Given the description of an element on the screen output the (x, y) to click on. 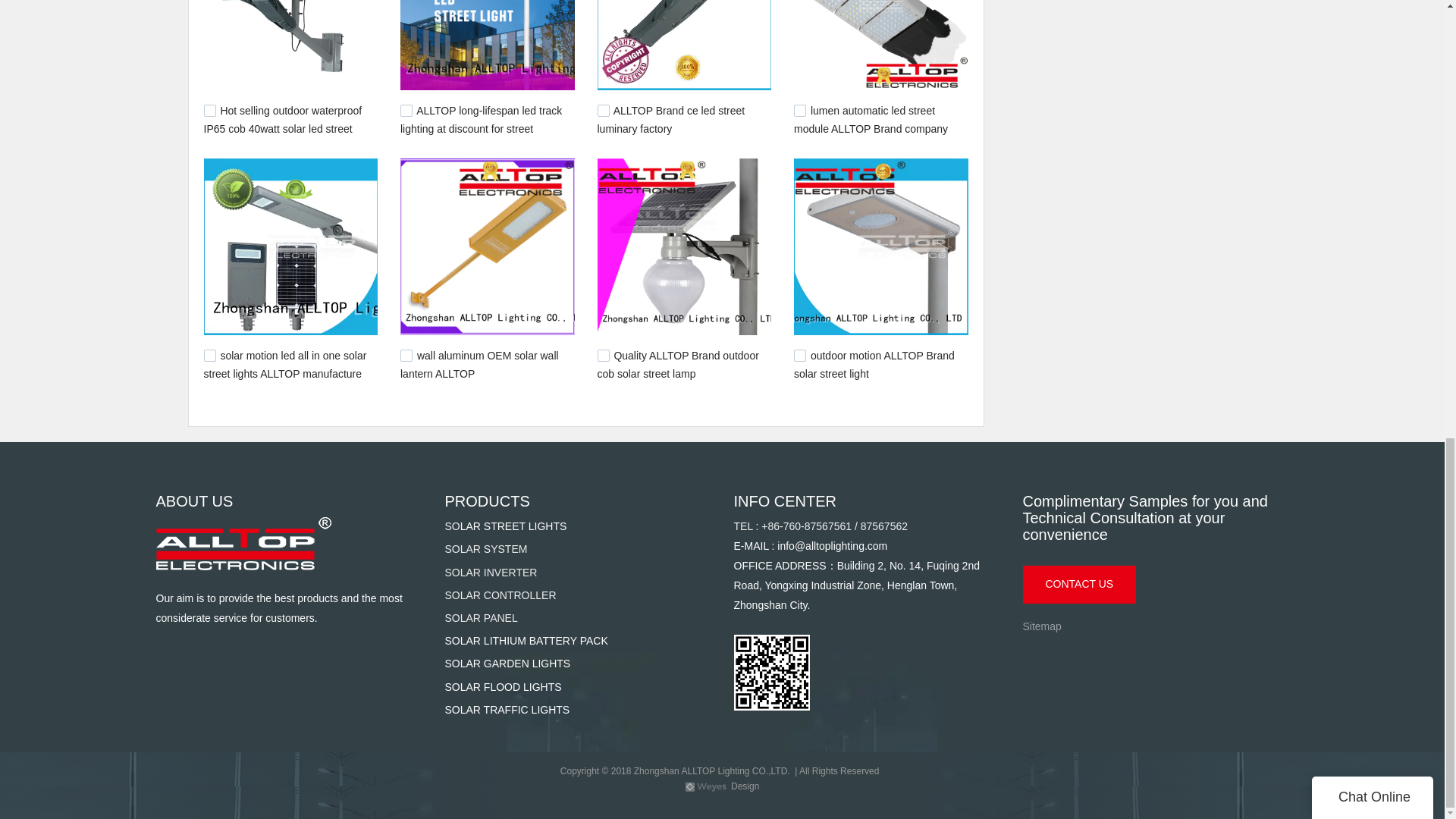
1077 (406, 110)
lumen automatic led street module ALLTOP Brand company (870, 119)
ALLTOP Brand ce led street luminary factory (670, 119)
outdoor motion ALLTOP Brand solar street light (874, 364)
574 (209, 355)
527 (406, 355)
651 (603, 110)
364 (799, 355)
Quality ALLTOP Brand outdoor cob solar street lamp (677, 364)
643 (799, 110)
wall aluminum OEM solar wall lantern ALLTOP (479, 364)
368 (603, 355)
